Given the description of an element on the screen output the (x, y) to click on. 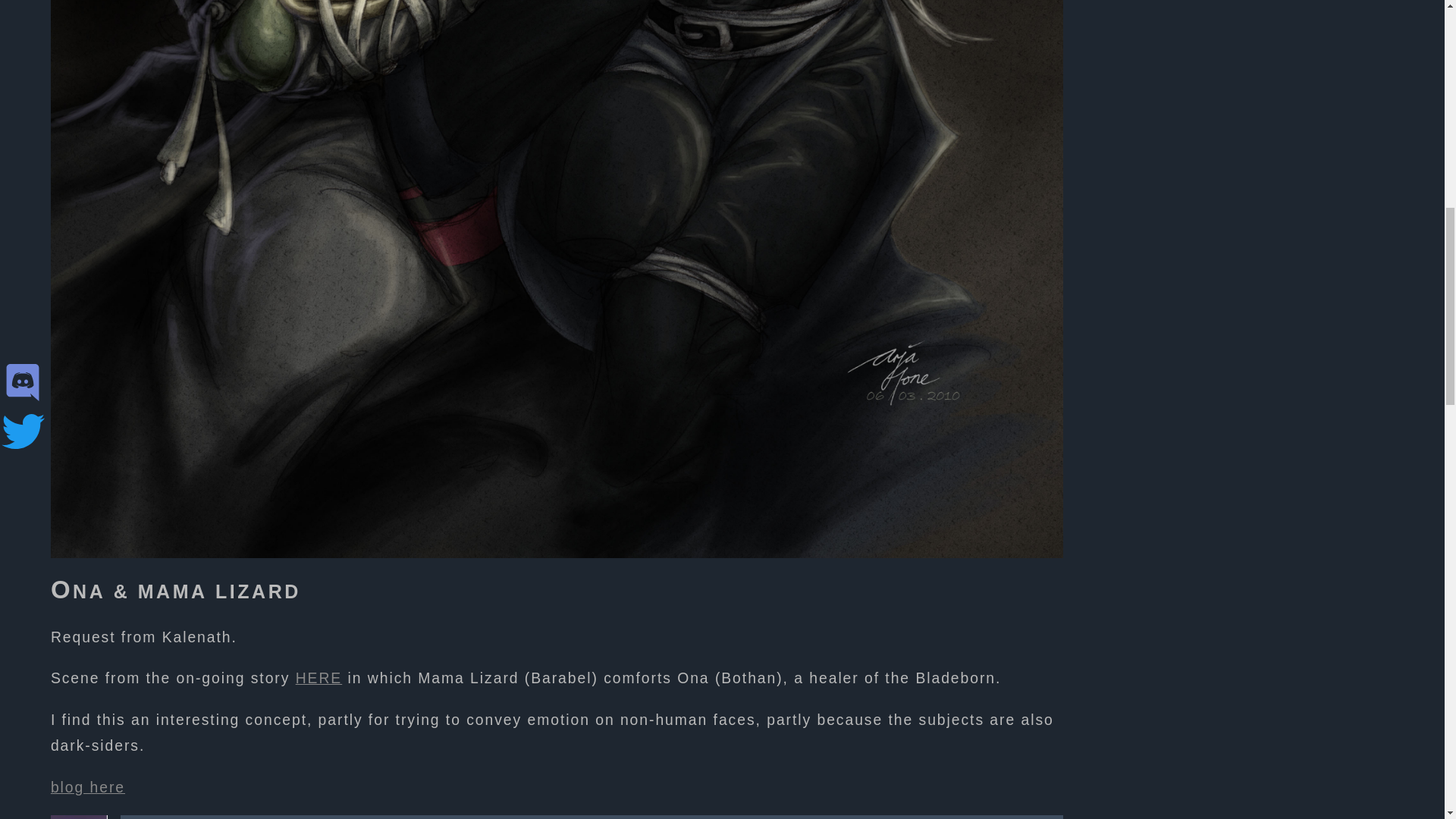
HERE (318, 677)
blog here (87, 786)
